Given the description of an element on the screen output the (x, y) to click on. 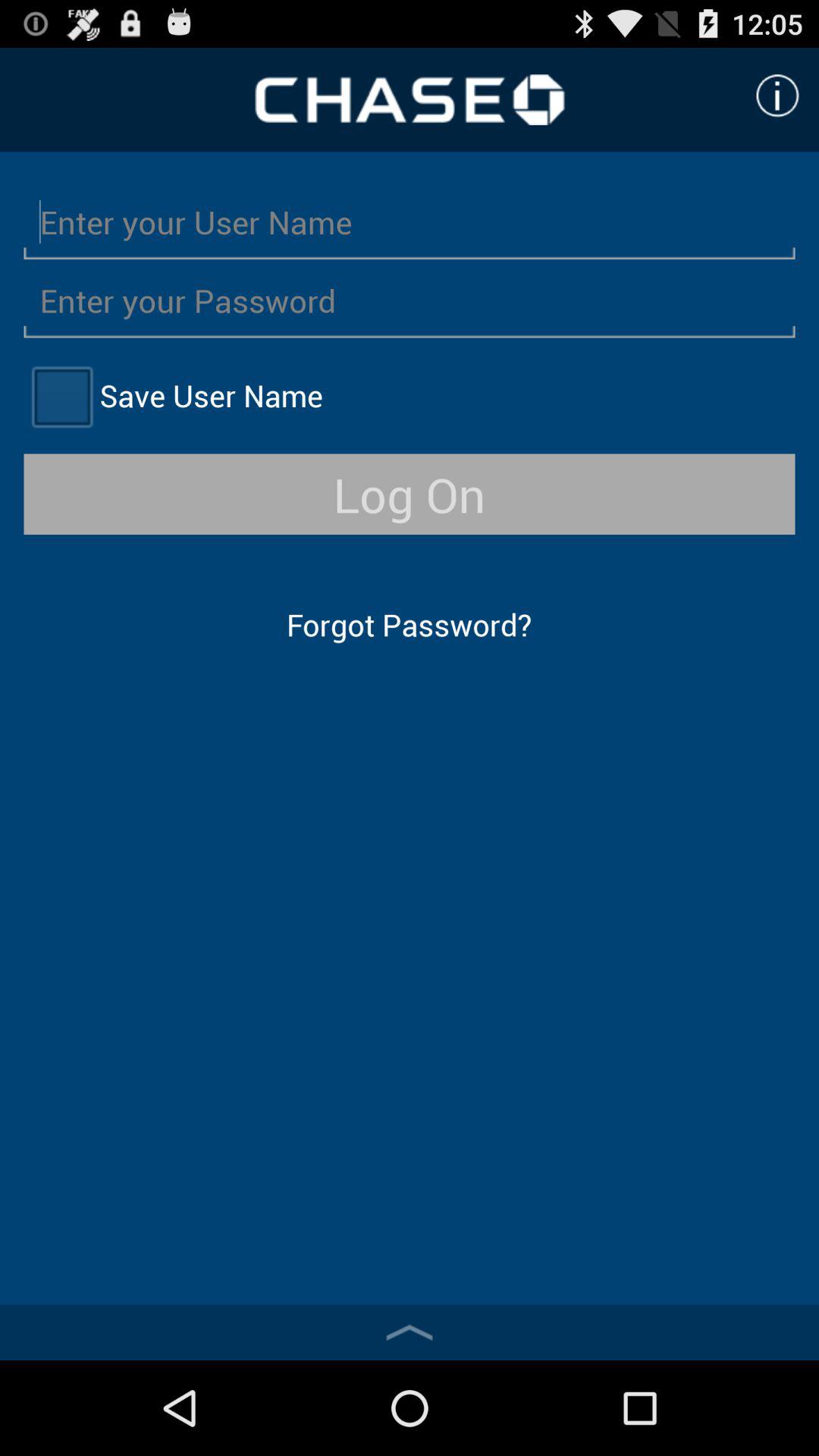
enter password for login (409, 299)
